Given the description of an element on the screen output the (x, y) to click on. 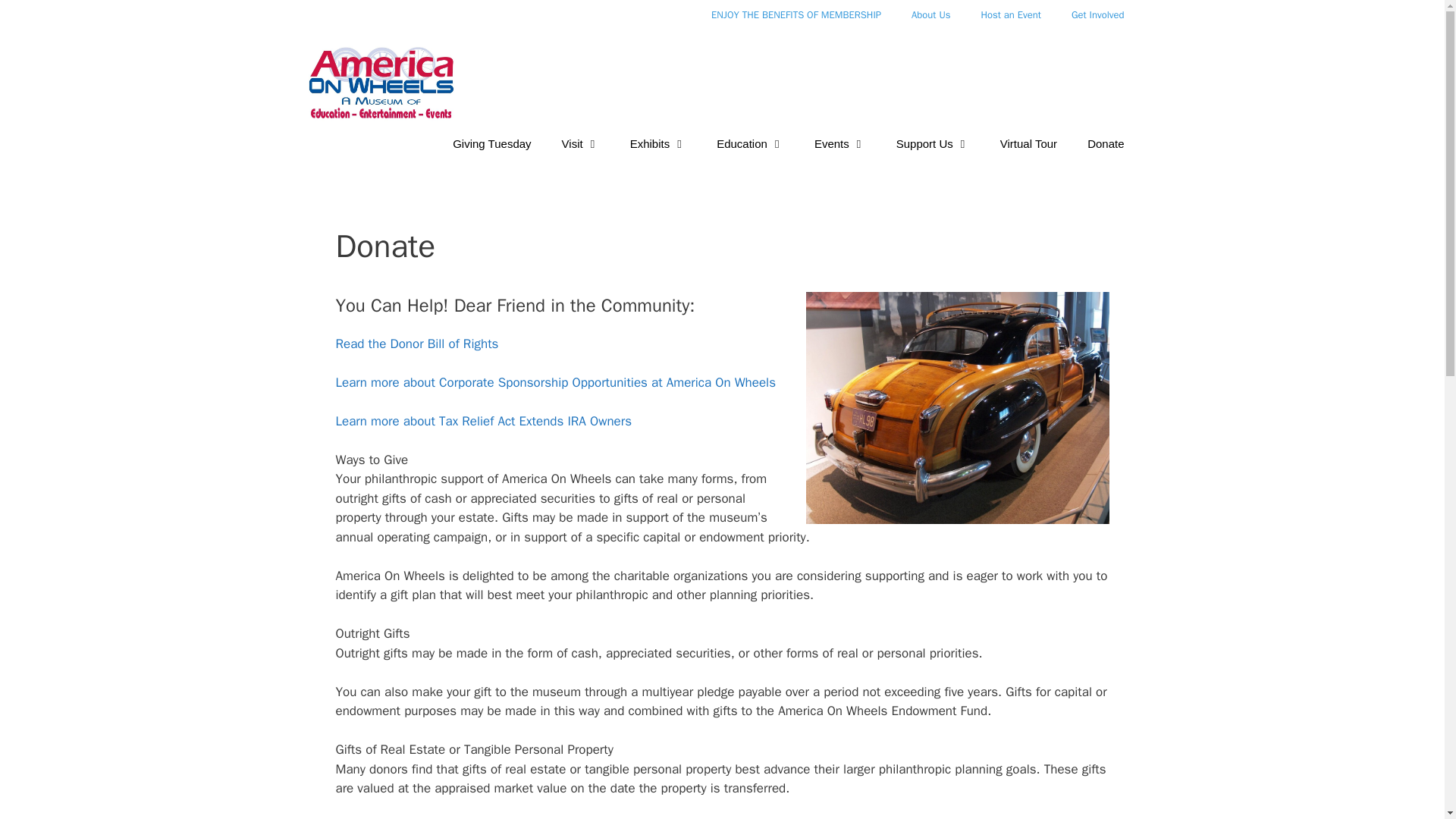
Host an Event (1010, 15)
Exhibits (657, 144)
About Us (930, 15)
Get Involved (1098, 15)
Visit (580, 144)
Giving Tuesday (492, 144)
Education (750, 144)
ENJOY THE BENEFITS OF MEMBERSHIP (795, 15)
